Given the description of an element on the screen output the (x, y) to click on. 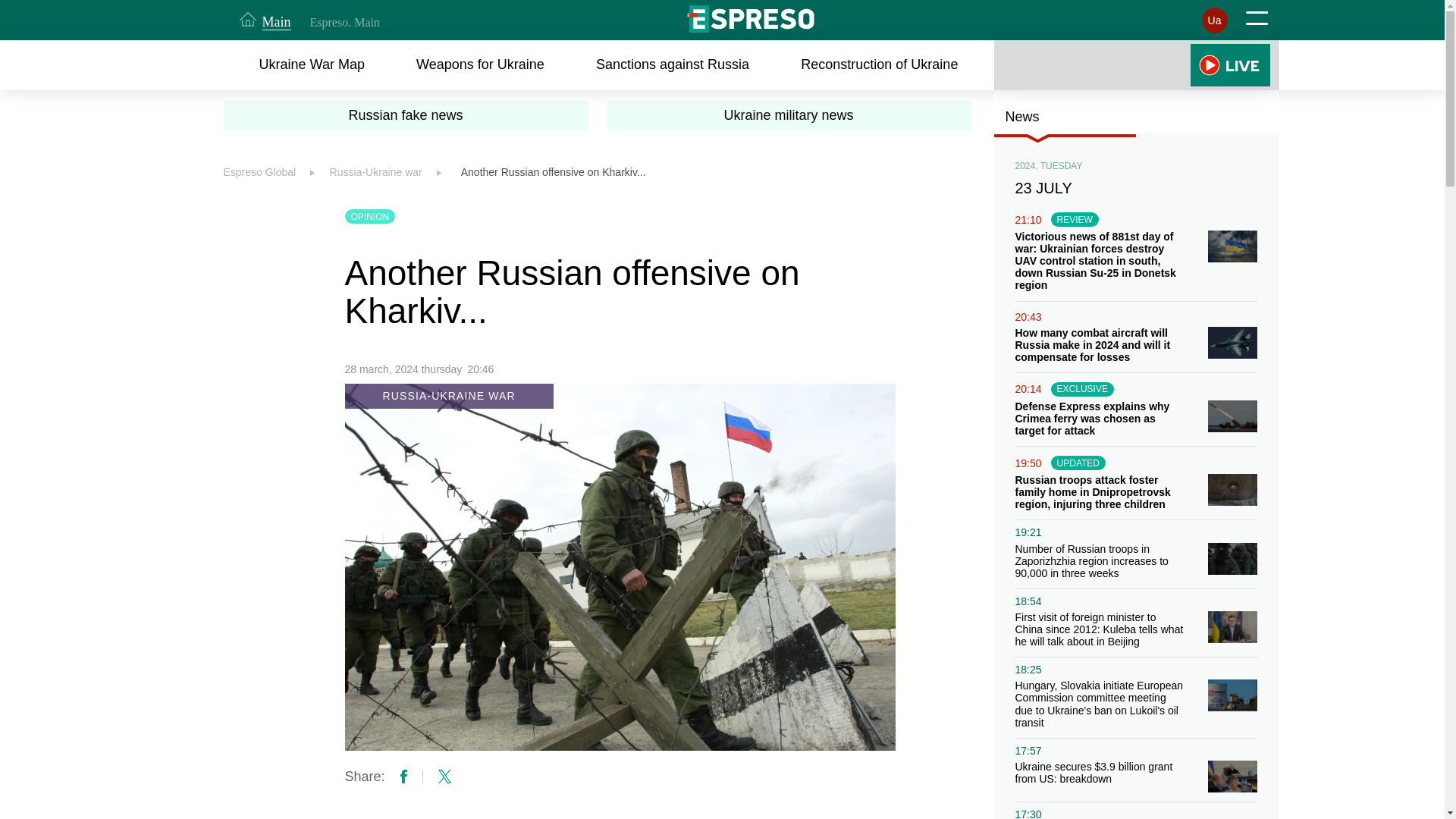
Main (265, 19)
Espreso. Main (343, 22)
Ua (1214, 20)
